Given the description of an element on the screen output the (x, y) to click on. 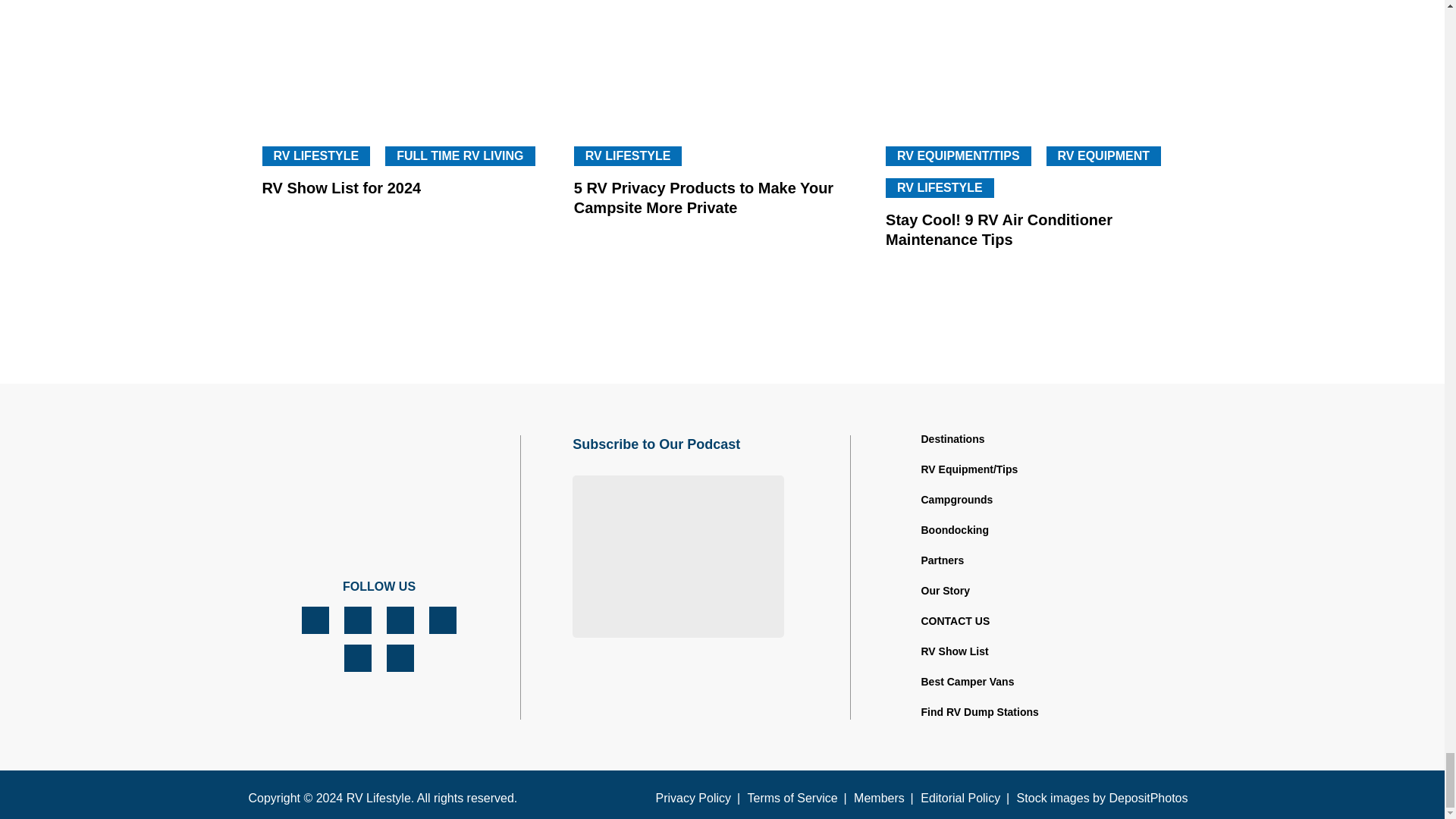
RV Show List for 2024 12 (410, 62)
5 RV Privacy Products to Make Your Campsite More Private 13 (721, 62)
Stay Cool! 9 RV Air Conditioner Maintenance Tips 14 (1033, 62)
